Given the description of an element on the screen output the (x, y) to click on. 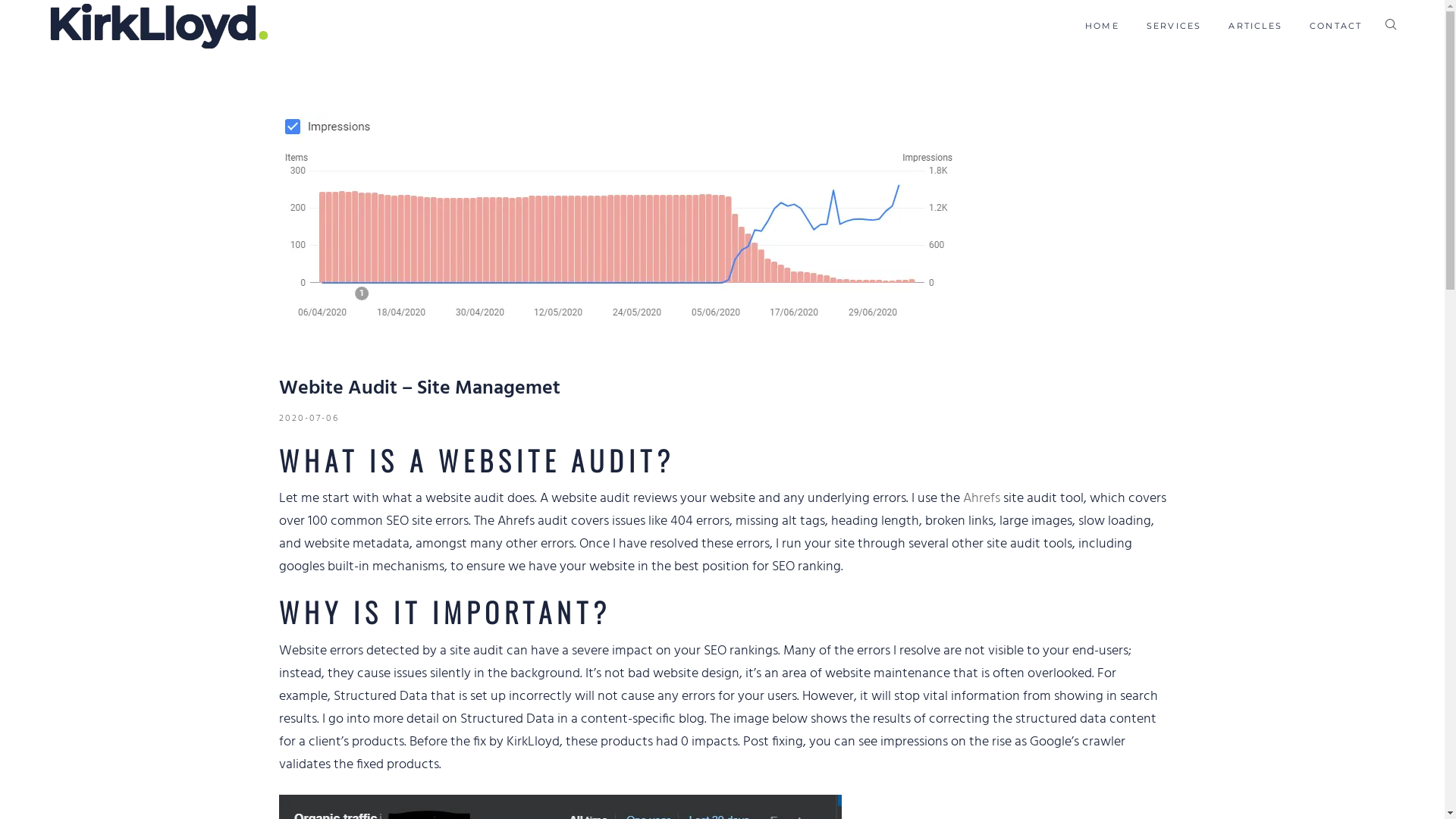
ARTICLES Element type: text (1255, 25)
SERVICES Element type: text (1173, 25)
HOME Element type: text (1102, 25)
Ahrefs Element type: text (981, 498)
CONTACT Element type: text (1335, 25)
